Given the description of an element on the screen output the (x, y) to click on. 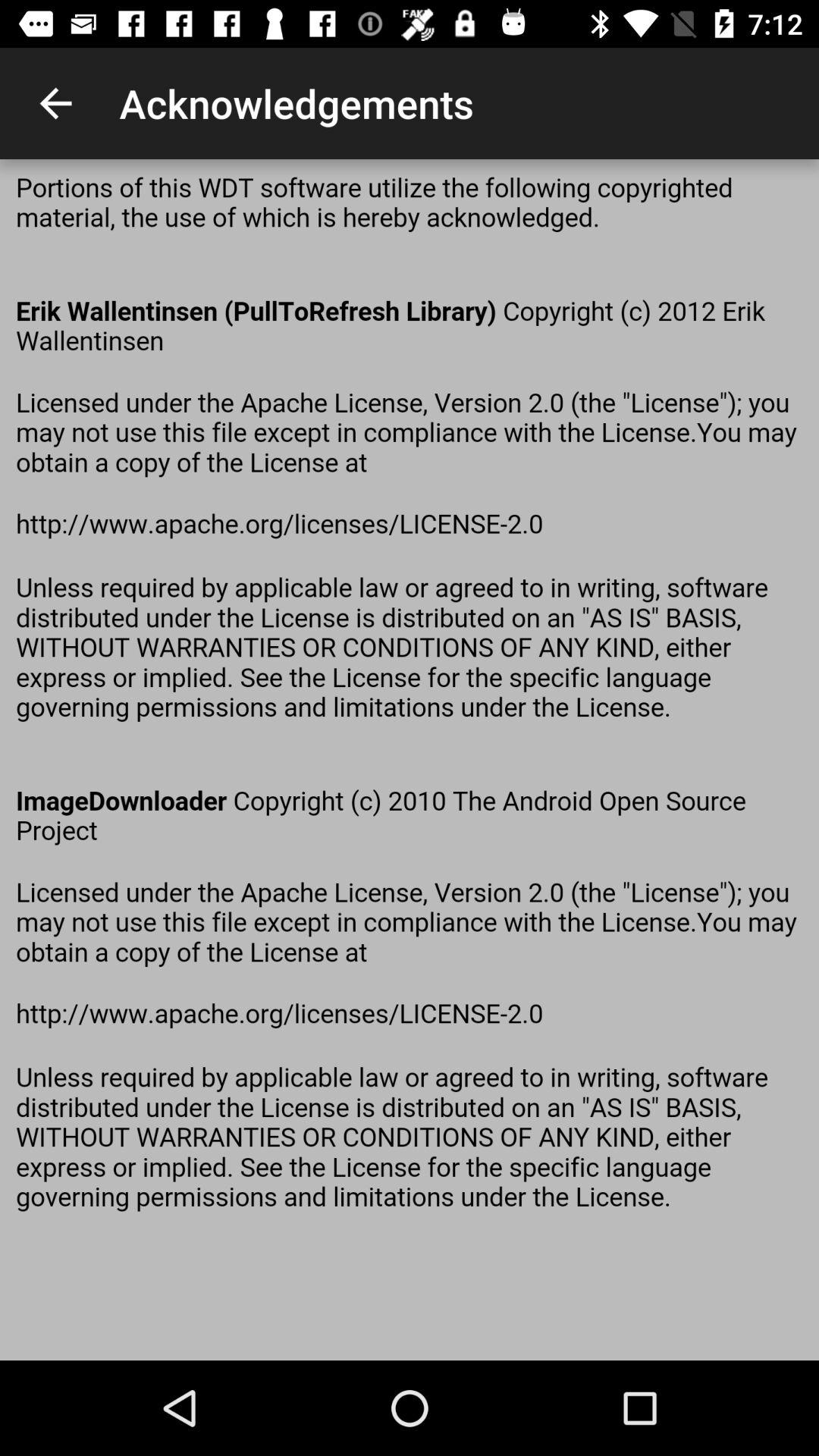
files (409, 759)
